Given the description of an element on the screen output the (x, y) to click on. 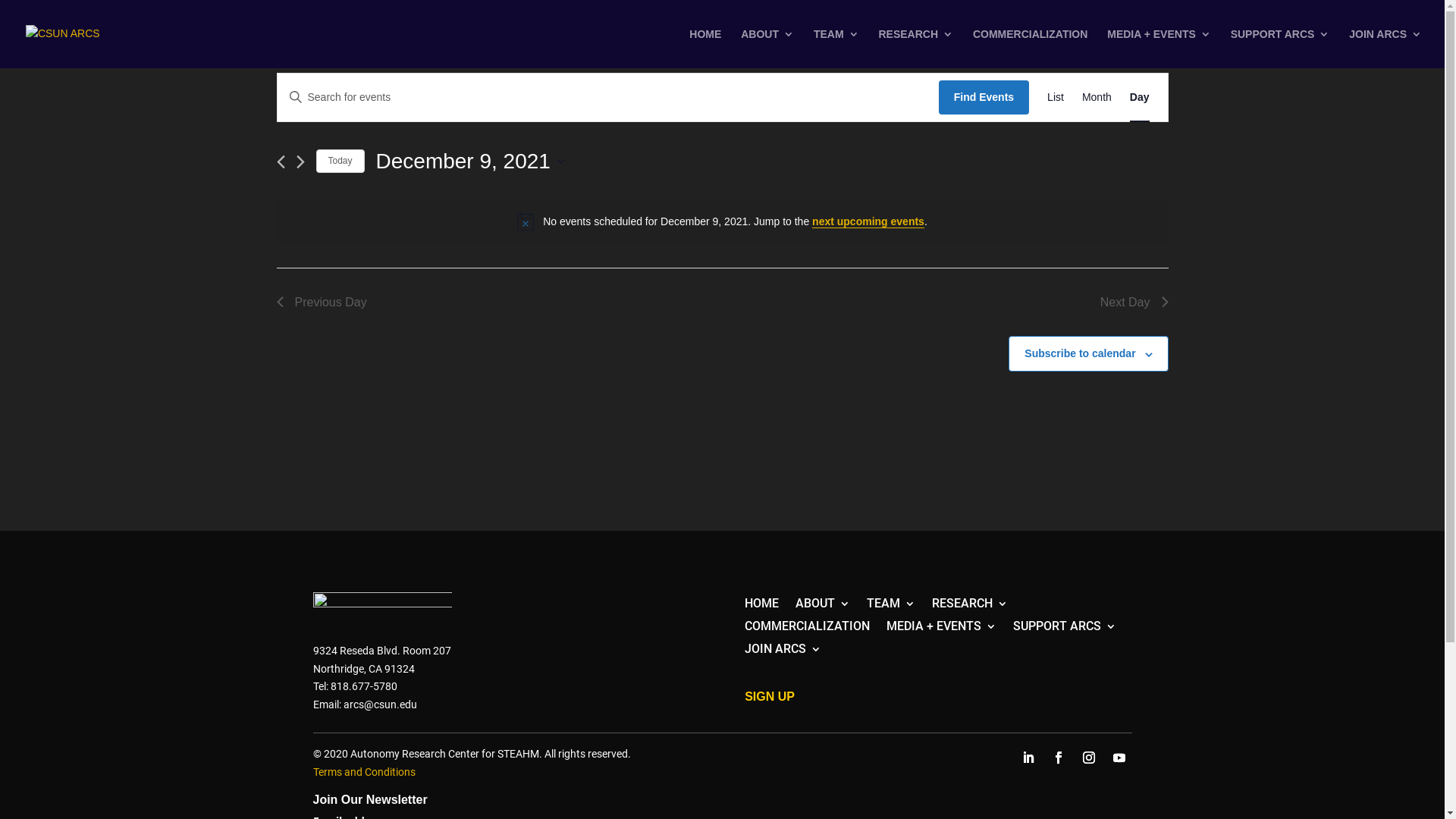
Follow on Facebook Element type: hover (1058, 757)
RESEARCH Element type: text (969, 606)
Follow on LinkedIn Element type: hover (1028, 757)
MEDIA + EVENTS Element type: text (941, 629)
Subscribe to calendar Element type: text (1079, 353)
JOIN ARCS Element type: text (1385, 48)
TEAM Element type: text (890, 606)
COMMERCIALIZATION Element type: text (806, 629)
Previous Day Element type: text (321, 302)
Next Day Element type: text (1134, 302)
SUPPORT ARCS Element type: text (1064, 629)
COMMERCIALIZATION Element type: text (1029, 48)
JOIN ARCS Element type: text (782, 651)
Month Element type: text (1096, 97)
Today Element type: text (339, 160)
Follow on Youtube Element type: hover (1119, 757)
Next day Element type: hover (299, 161)
Find Events Element type: text (983, 97)
MEDIA + EVENTS Element type: text (1159, 48)
Day Element type: text (1139, 97)
next upcoming events Element type: text (868, 221)
ABOUT Element type: text (766, 48)
Follow on Instagram Element type: hover (1088, 757)
SUPPORT ARCS Element type: text (1280, 48)
December 9, 2021 Element type: text (470, 161)
TEAM Element type: text (836, 48)
List Element type: text (1055, 97)
ABOUT Element type: text (822, 606)
RESEARCH Element type: text (915, 48)
Previous day Element type: hover (280, 161)
Terms and Conditions Element type: text (363, 771)
SIGN UP Element type: text (769, 696)
HOME Element type: text (761, 606)
HOME Element type: text (705, 48)
